Given the description of an element on the screen output the (x, y) to click on. 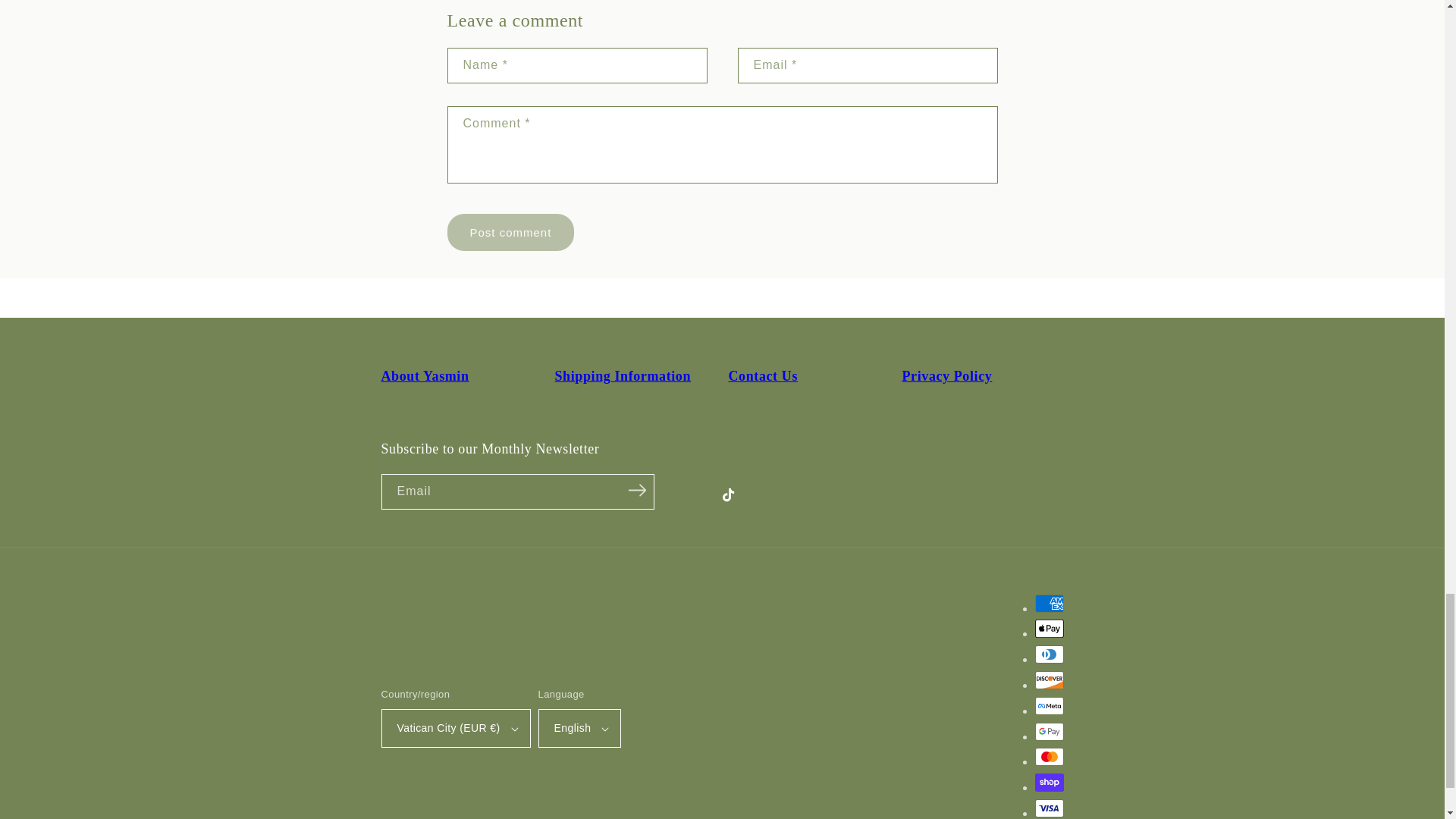
Visa (1047, 808)
Shop Pay (1047, 782)
Diners Club (1047, 654)
Google Pay (1047, 731)
Mastercard (1047, 756)
Post comment (510, 231)
Apple Pay (1047, 628)
Discover (1047, 679)
Meta Pay (1047, 705)
American Express (1047, 603)
